Given the description of an element on the screen output the (x, y) to click on. 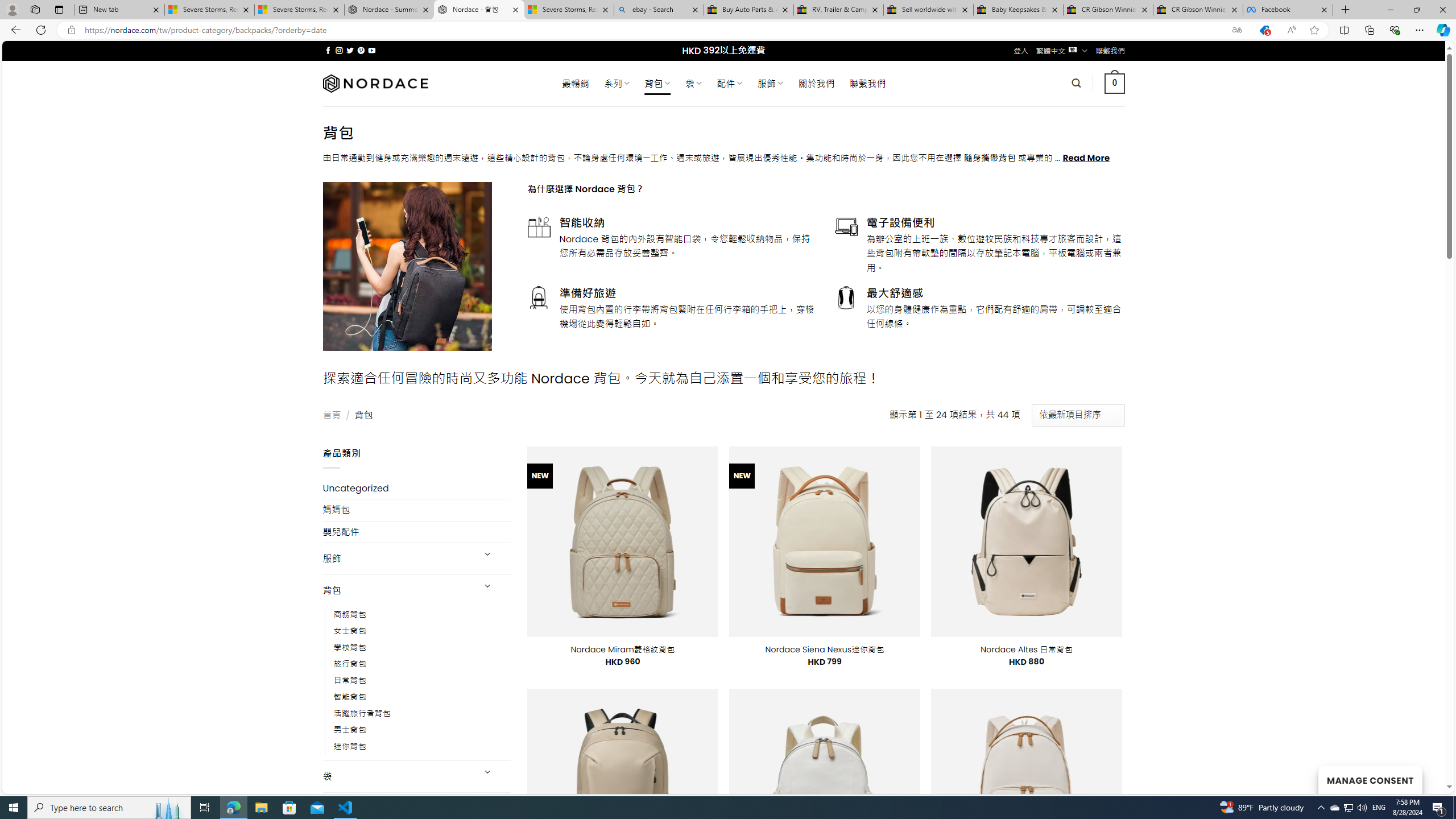
ebay - Search (658, 9)
Nordace (374, 83)
Read More (1085, 157)
New Tab (1346, 9)
Split screen (1344, 29)
Follow on Instagram (338, 50)
Follow on Facebook (327, 50)
